Given the description of an element on the screen output the (x, y) to click on. 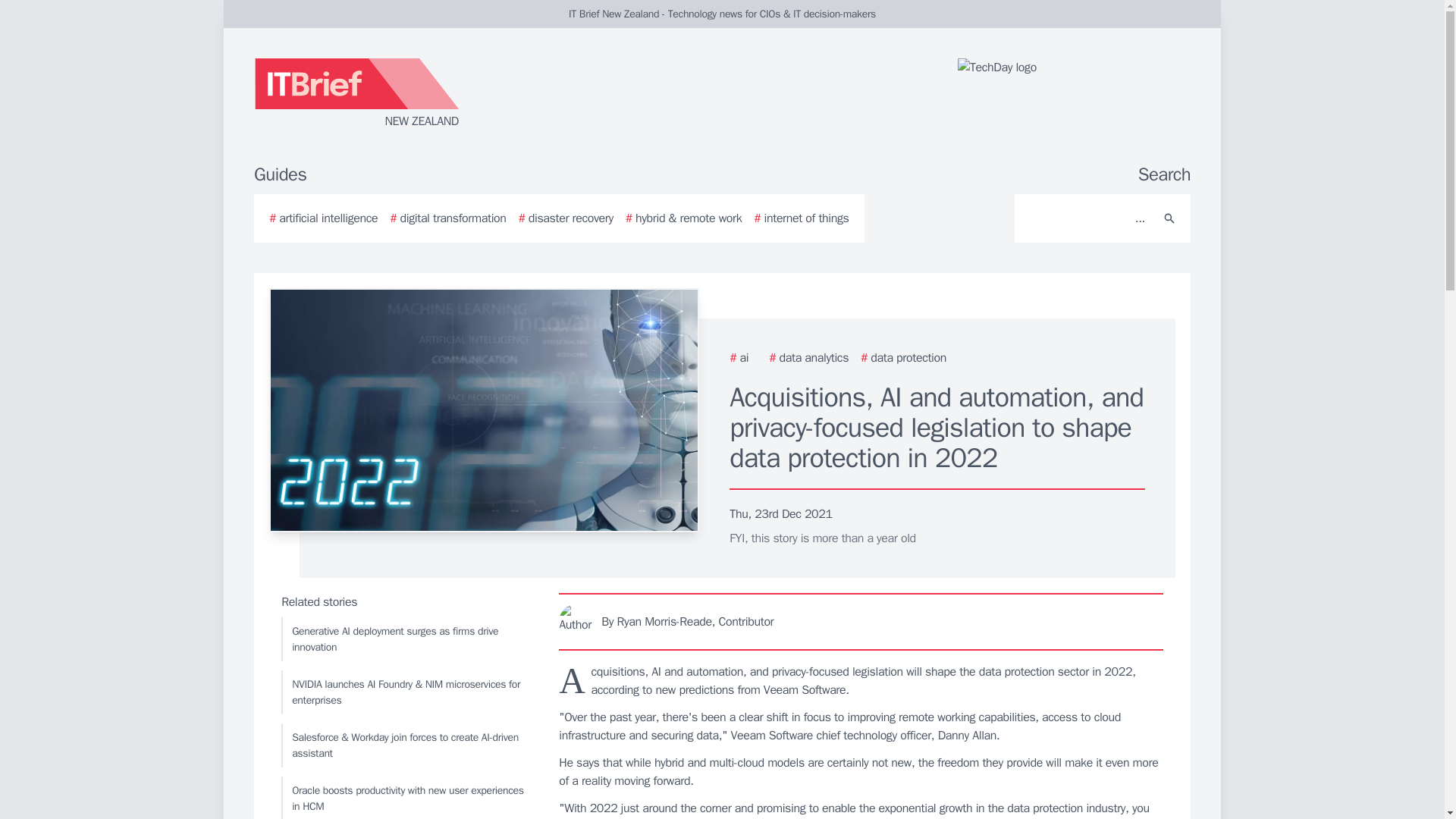
Generative AI deployment surges as firms drive innovation (406, 638)
NEW ZEALAND (435, 94)
By Ryan Morris-Reade, Contributor (861, 621)
Oracle boosts productivity with new user experiences in HCM (406, 797)
